Given the description of an element on the screen output the (x, y) to click on. 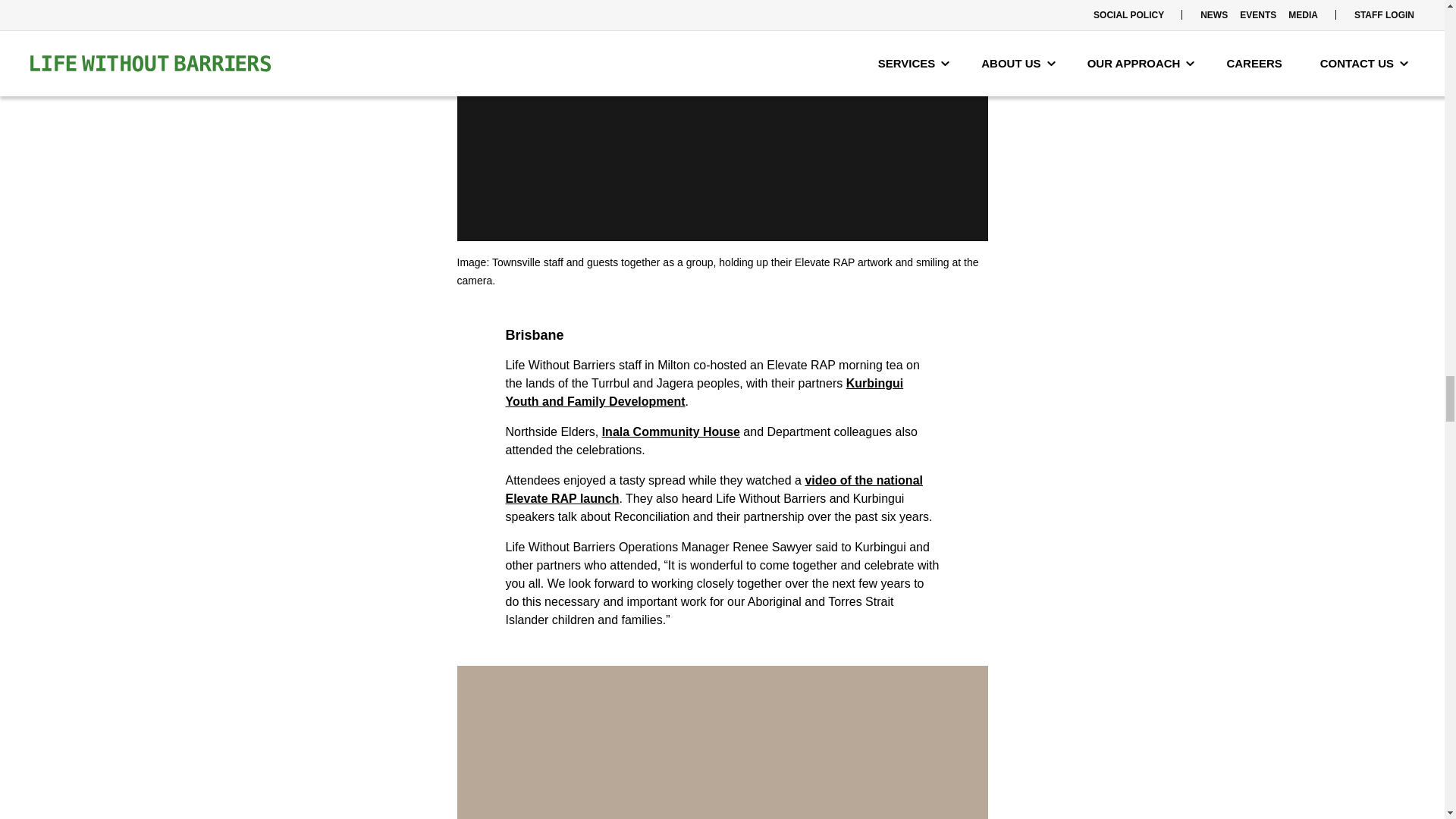
Kurbingui Youth and Family Development (703, 391)
Inala Community House (670, 431)
video of the national Elevate RAP launch (713, 489)
